Given the description of an element on the screen output the (x, y) to click on. 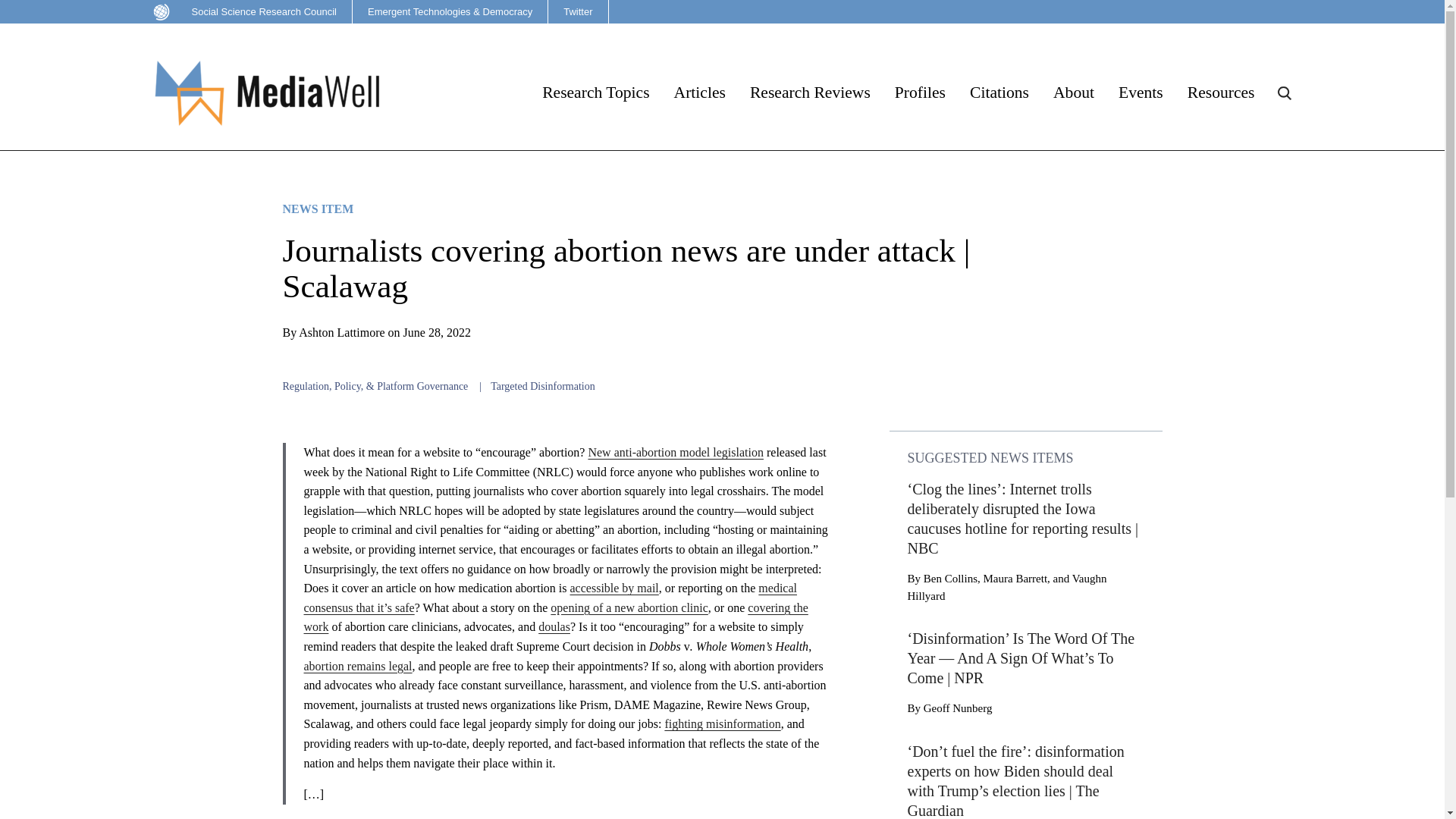
Articles (699, 92)
Twitter (577, 11)
accessible by mail (614, 587)
New anti-abortion model legislation (675, 451)
Social Science Research Council (247, 11)
Resources (1221, 92)
Twitter (577, 11)
Profiles (919, 92)
Click to search site (1283, 92)
Targeted Disinformation (542, 386)
